Given the description of an element on the screen output the (x, y) to click on. 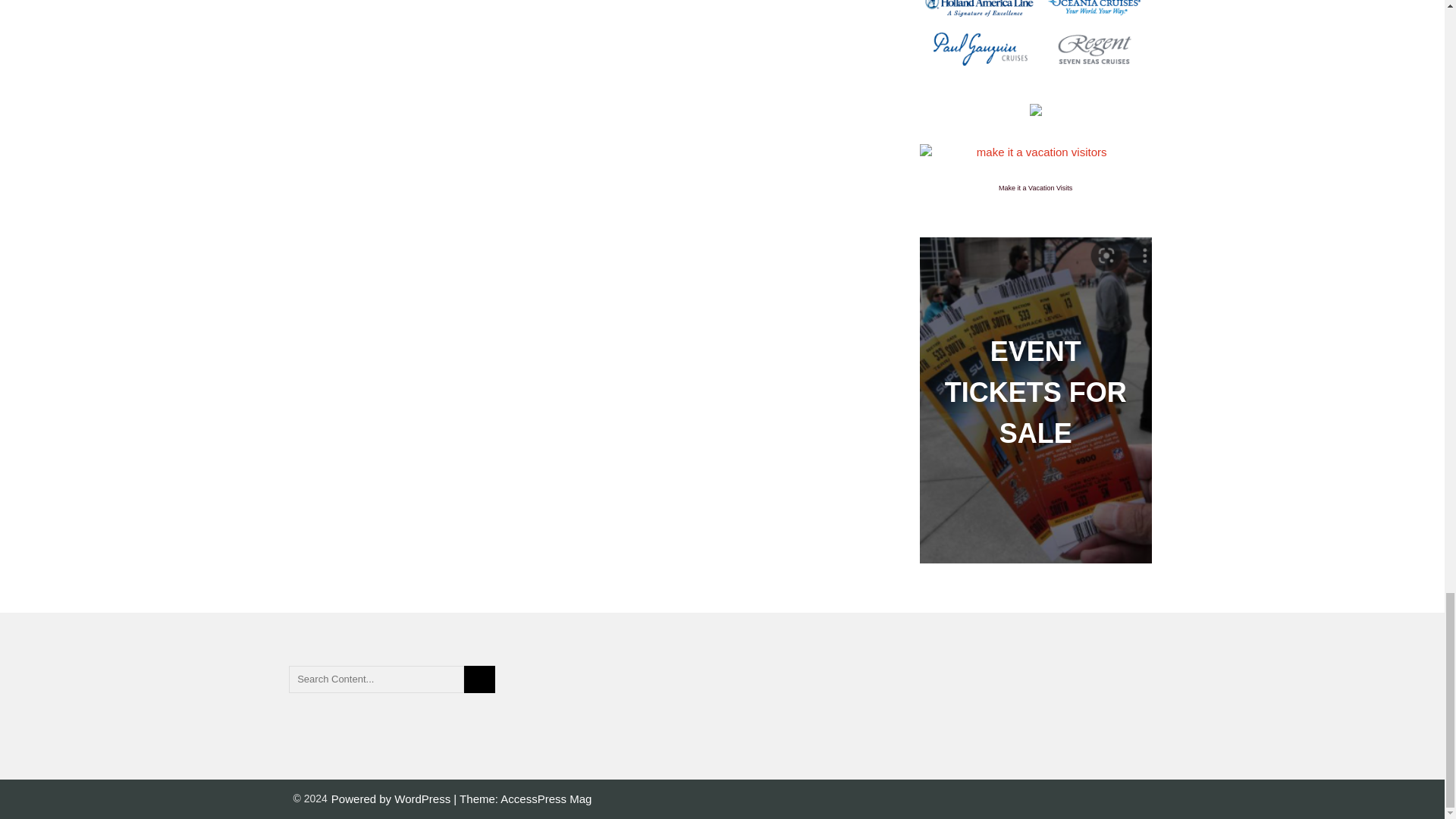
AccessPress Mag (545, 798)
AccessPress Themes (545, 798)
Make it a Vacation Visits (1034, 187)
Search for: (376, 678)
make it a vacation visitors (1035, 152)
WordPress (423, 798)
